Given the description of an element on the screen output the (x, y) to click on. 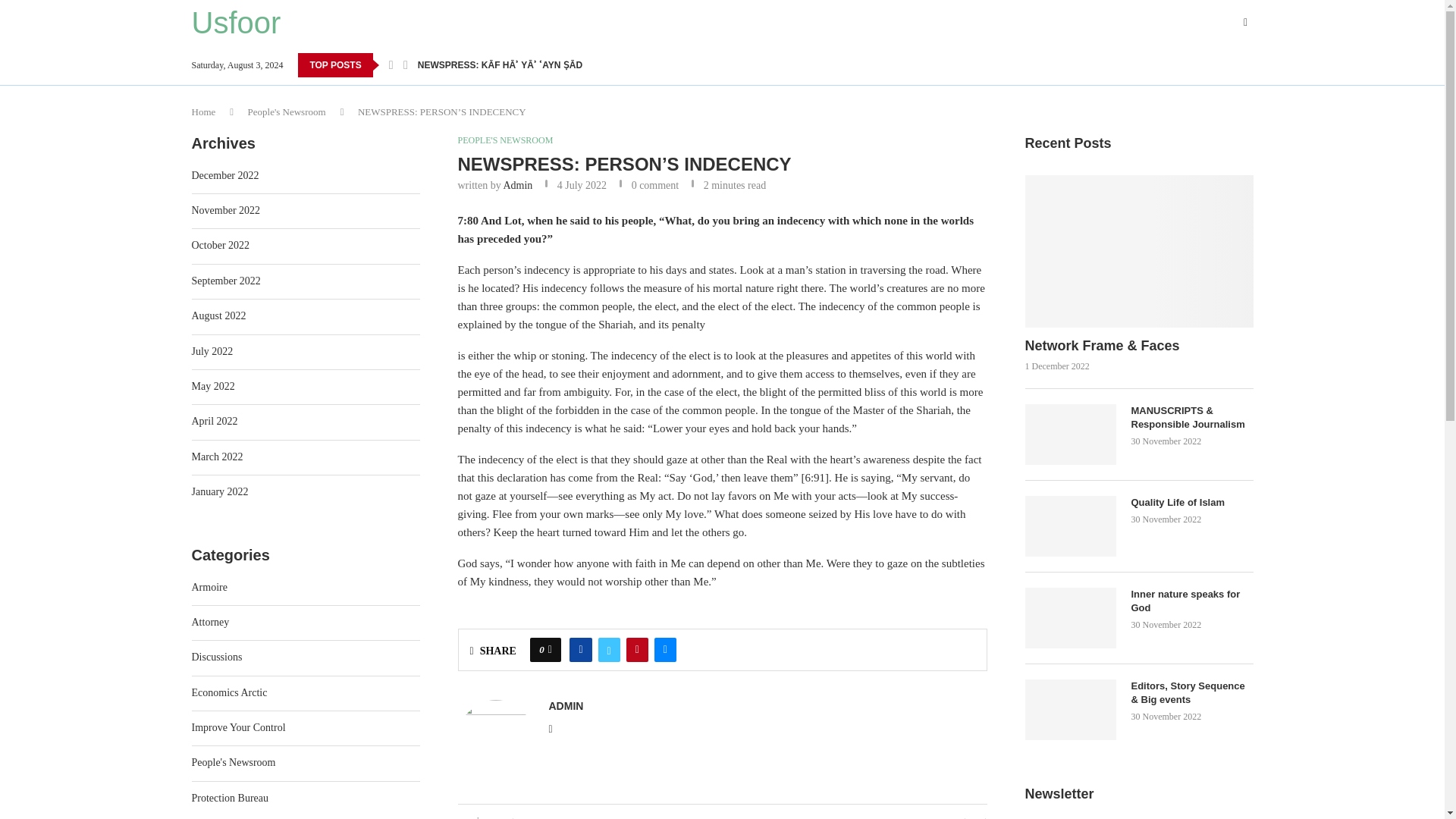
Usfoor (235, 22)
People's Newsroom (286, 111)
Admin (517, 184)
ADMIN (565, 705)
PEOPLE'S NEWSROOM (505, 140)
Home (202, 111)
Author admin (565, 705)
